Given the description of an element on the screen output the (x, y) to click on. 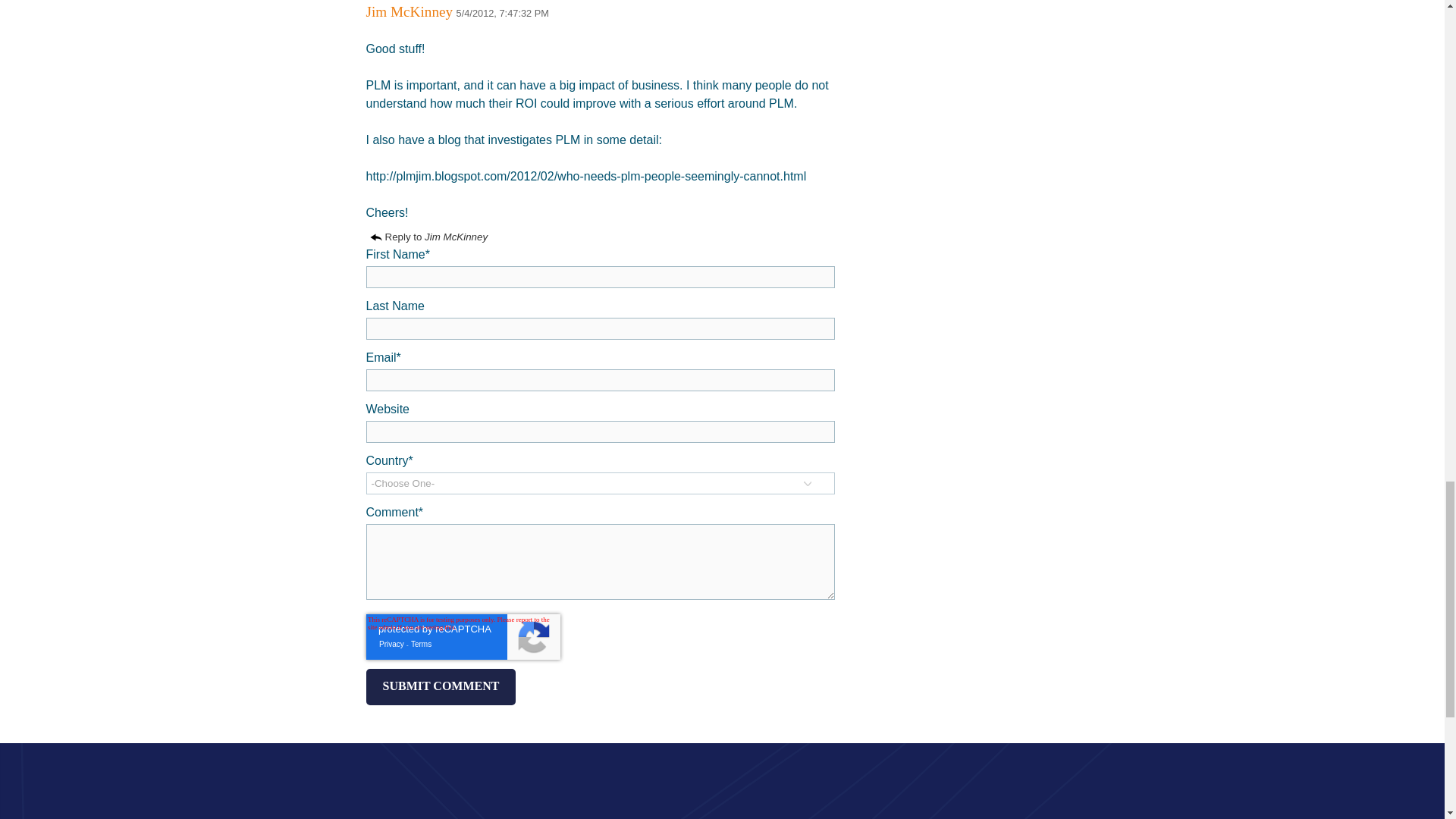
Submit Comment (440, 687)
reCAPTCHA (462, 637)
